Given the description of an element on the screen output the (x, y) to click on. 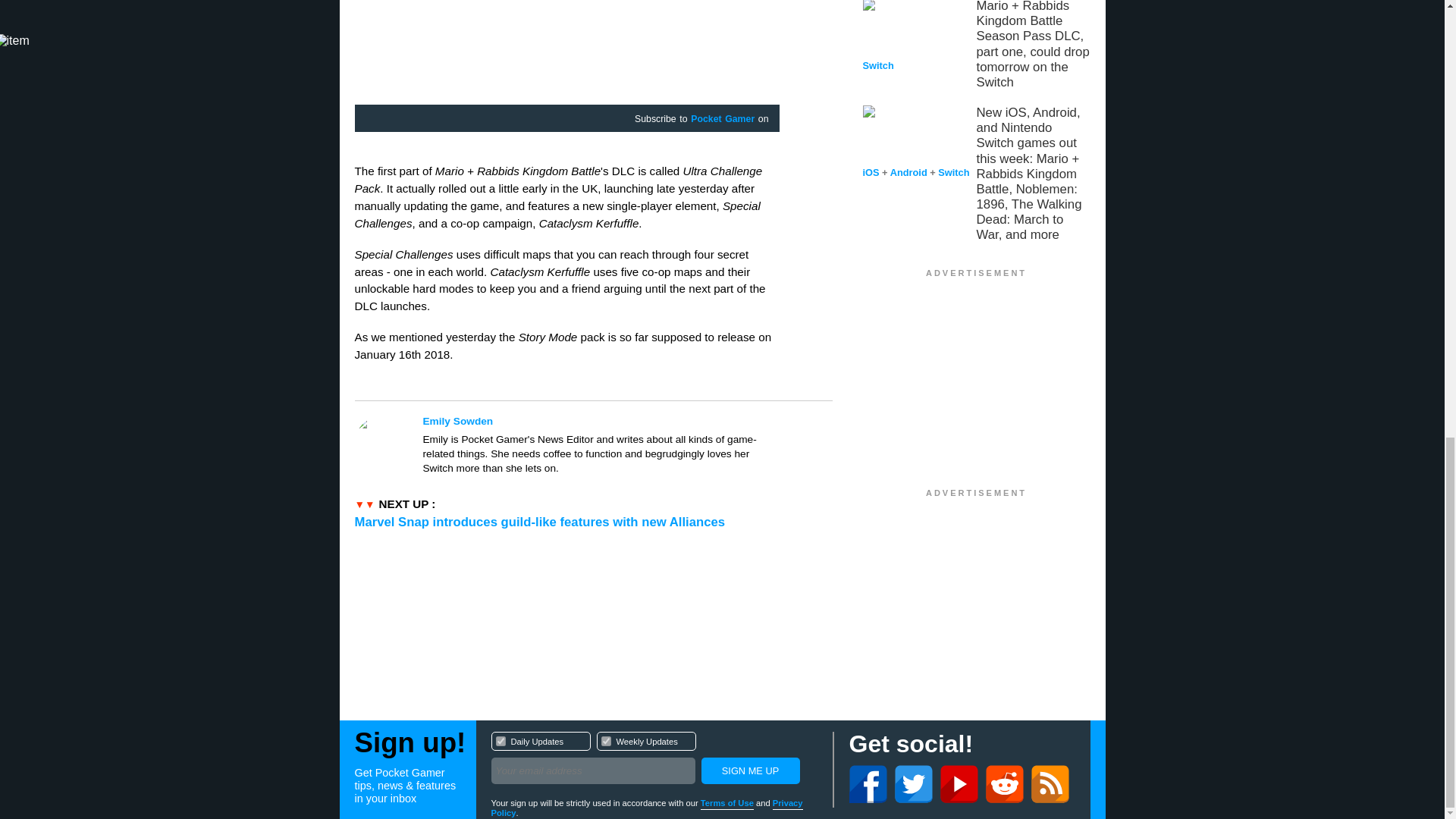
1 (500, 741)
Emily Sowden (654, 759)
Pocket Gamer (600, 421)
Sign Me Up (722, 119)
Sign Me Up (749, 770)
2 (749, 770)
